Given the description of an element on the screen output the (x, y) to click on. 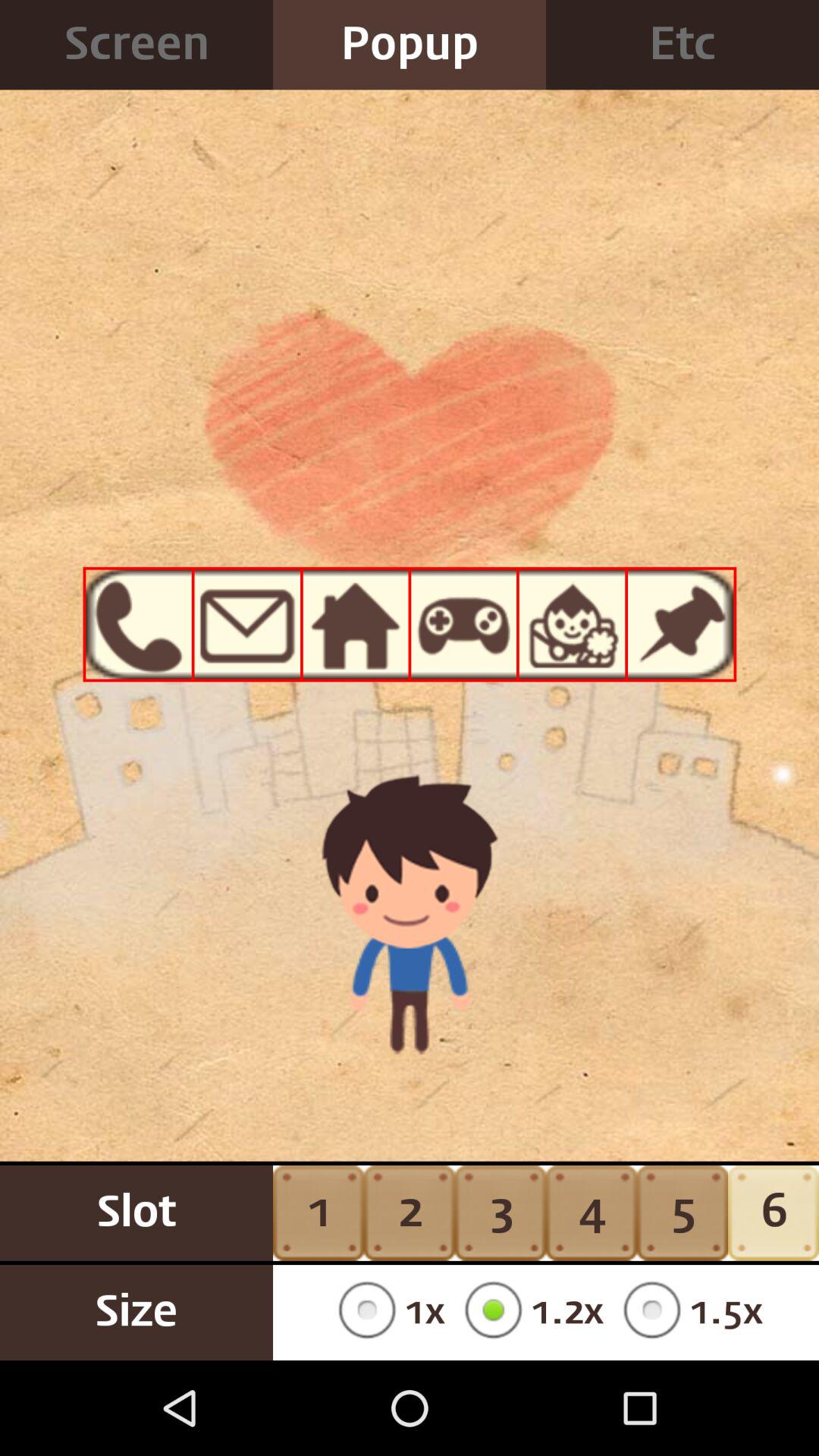
choose screen icon (136, 44)
